Given the description of an element on the screen output the (x, y) to click on. 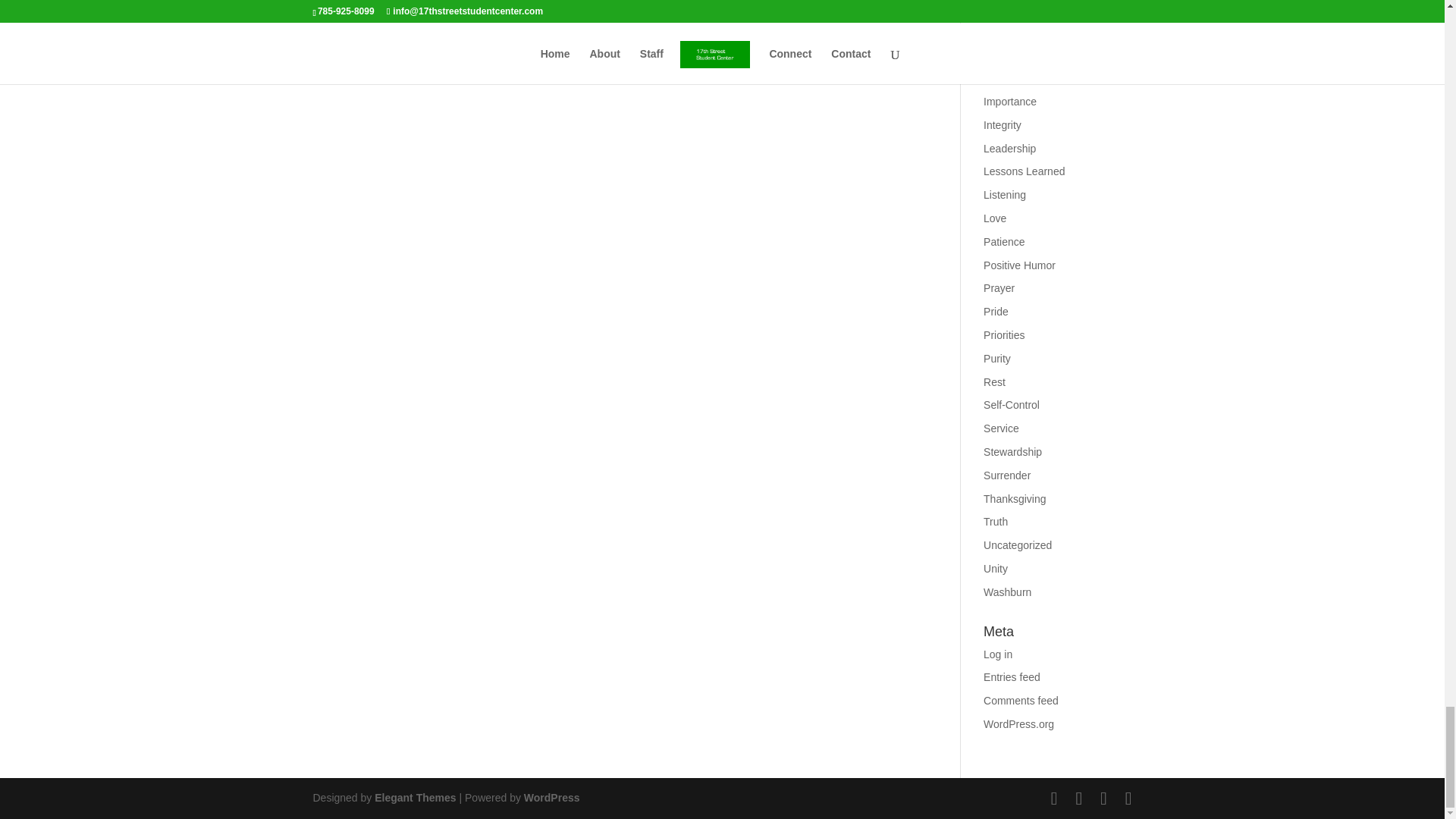
Premium WordPress Themes (414, 797)
